Given the description of an element on the screen output the (x, y) to click on. 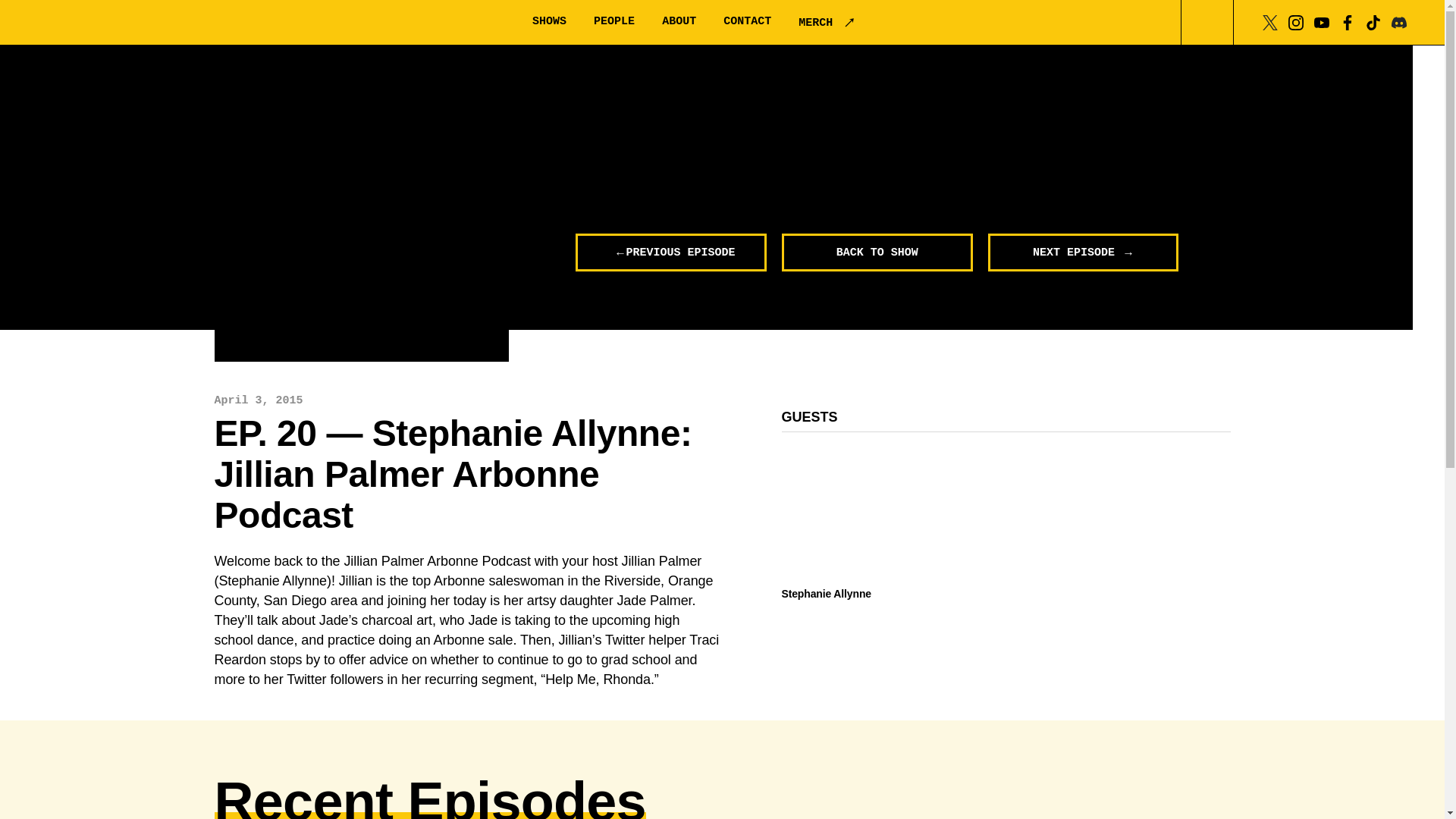
Earwolf (118, 22)
Facebook (1347, 21)
Instagram (1295, 21)
SHOWS (549, 21)
PEOPLE (614, 21)
ABOUT (678, 21)
Stephanie Allynne (853, 593)
CONTACT (747, 21)
Tiktok (1372, 21)
YouTube (1321, 21)
